Given the description of an element on the screen output the (x, y) to click on. 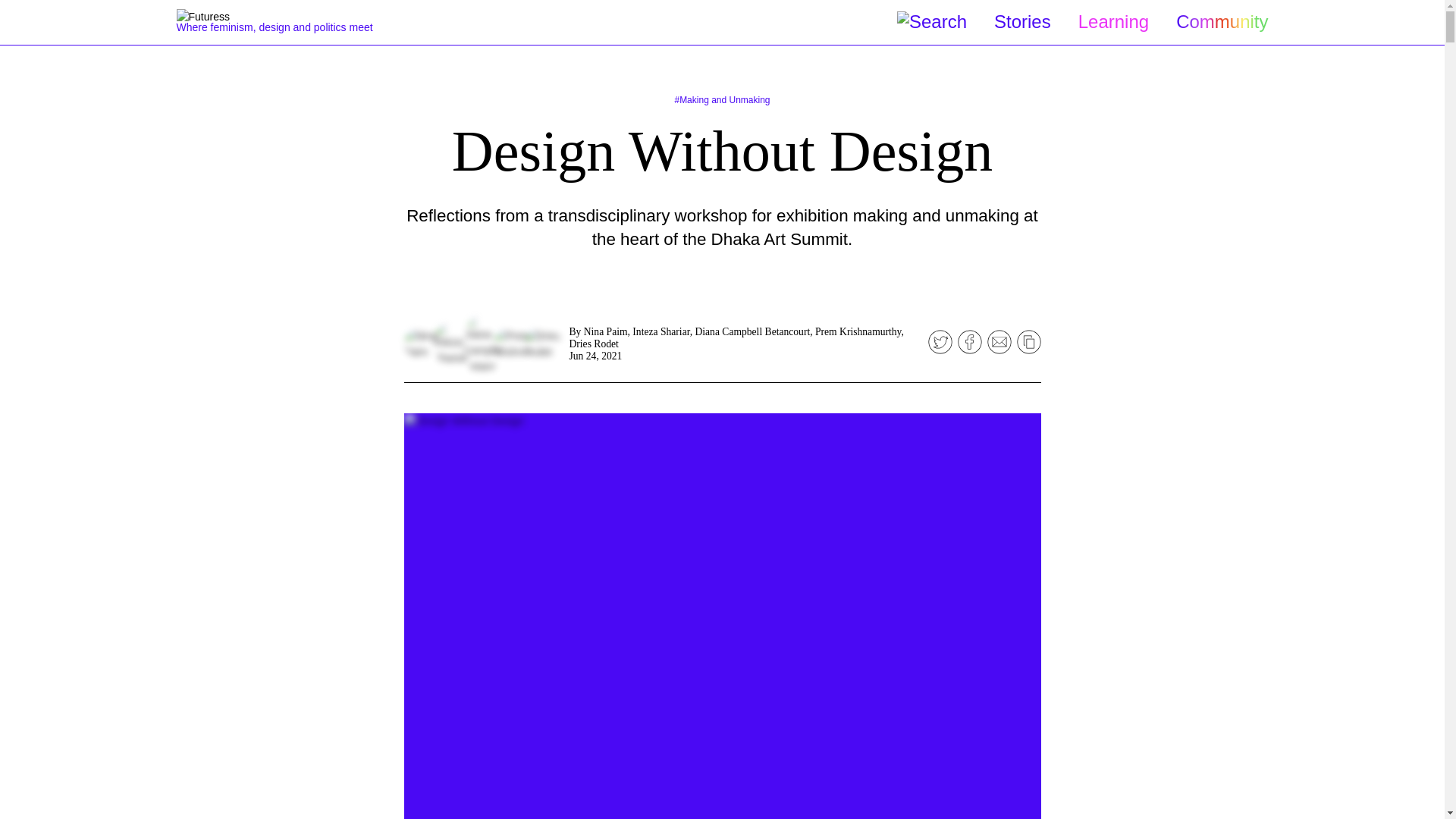
Where feminism, design and politics meet (301, 22)
Search (931, 22)
Stories (1022, 21)
Community (1222, 21)
Learning (1113, 21)
